Given the description of an element on the screen output the (x, y) to click on. 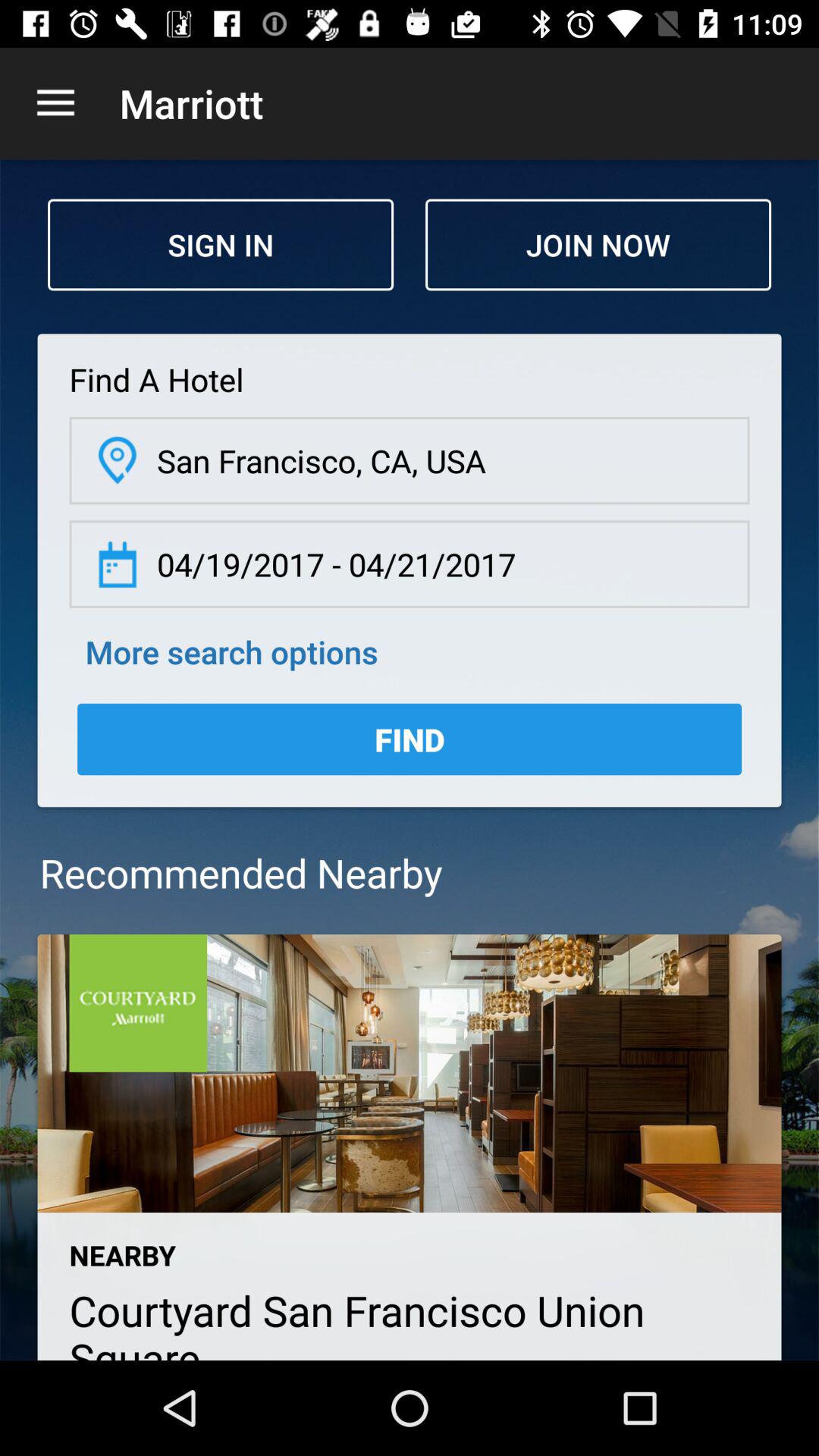
open icon next to sign in icon (598, 244)
